Given the description of an element on the screen output the (x, y) to click on. 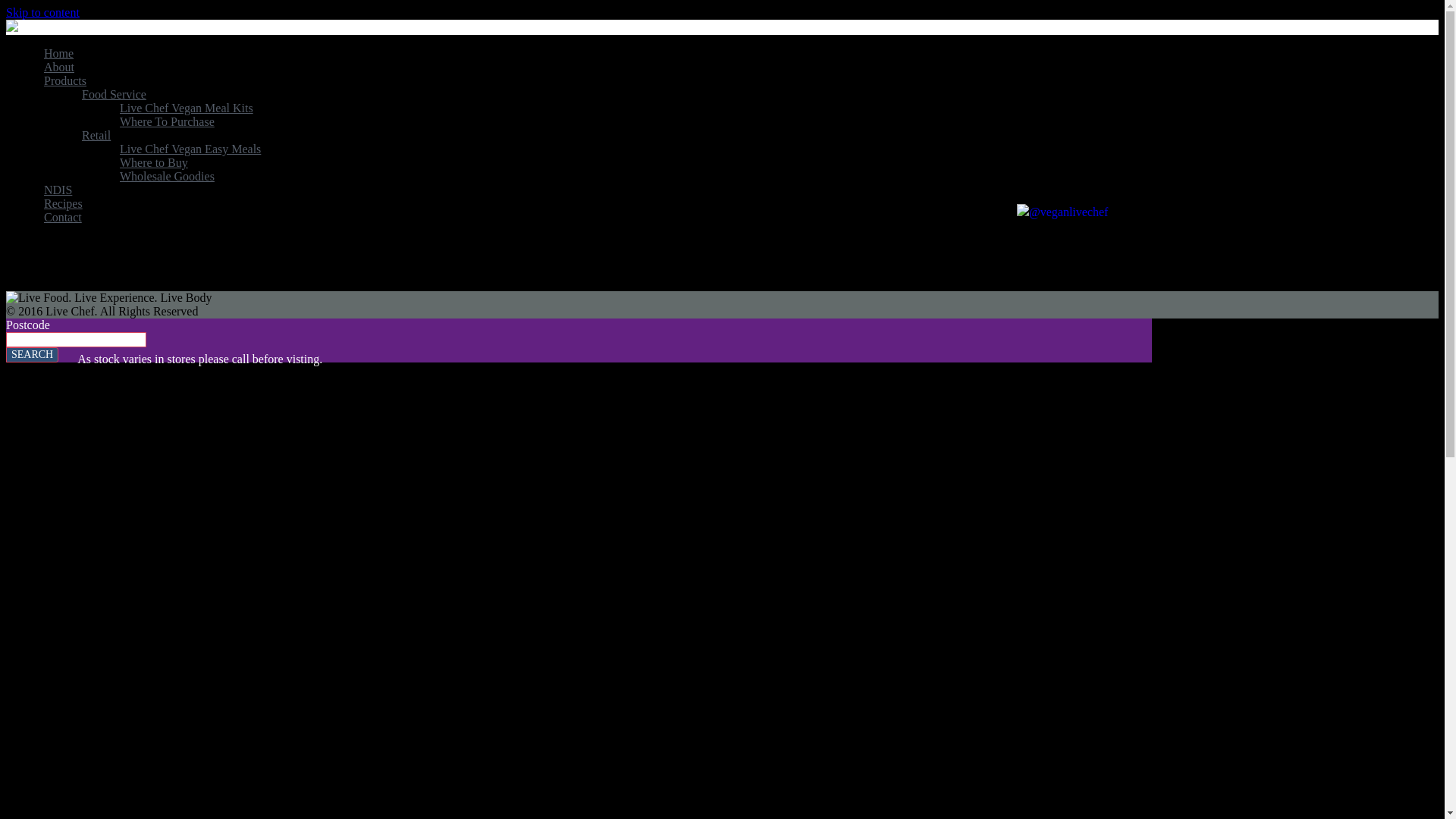
Home Element type: text (58, 53)
NDIS Element type: text (57, 189)
Live Chef Vegan Meal Kits Element type: text (186, 107)
Wholesale Goodies Element type: text (166, 175)
Skip to content Element type: text (42, 12)
Food Service Element type: text (113, 93)
Recipes Element type: text (62, 203)
Where To Purchase Element type: text (166, 121)
Live Chef Vegan Easy Meals Element type: text (189, 148)
Contact Element type: text (62, 216)
@veganlivechef Element type: text (1022, 211)
Retail Element type: text (95, 134)
About Element type: text (58, 66)
Products Element type: text (64, 80)
Where to Buy Element type: text (153, 162)
Search Element type: text (32, 354)
